Given the description of an element on the screen output the (x, y) to click on. 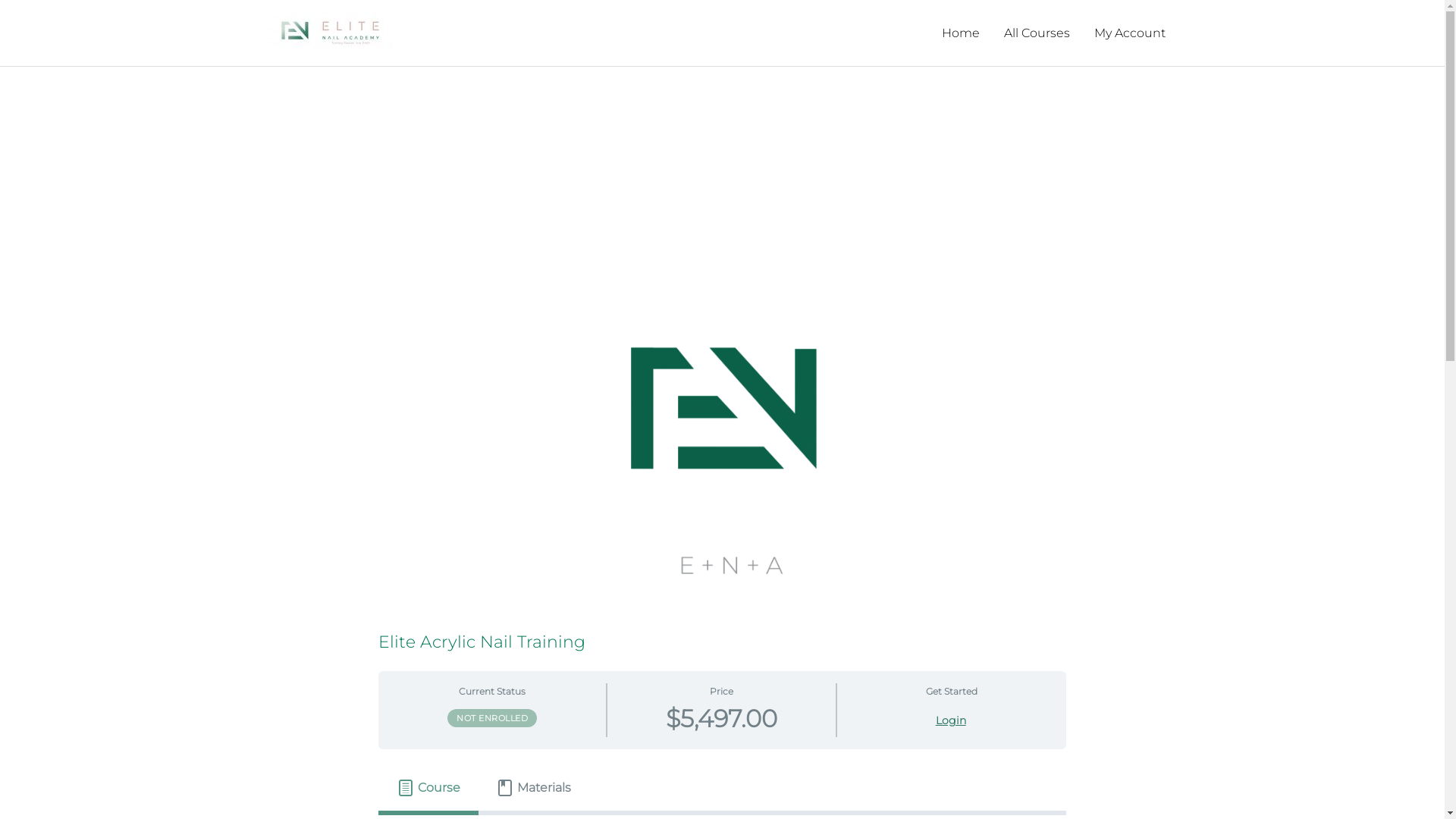
Course Element type: text (428, 787)
All Courses Element type: text (1036, 33)
My Account Element type: text (1128, 33)
Materials Element type: text (533, 787)
Login Element type: text (950, 720)
Home Element type: text (960, 33)
